Given the description of an element on the screen output the (x, y) to click on. 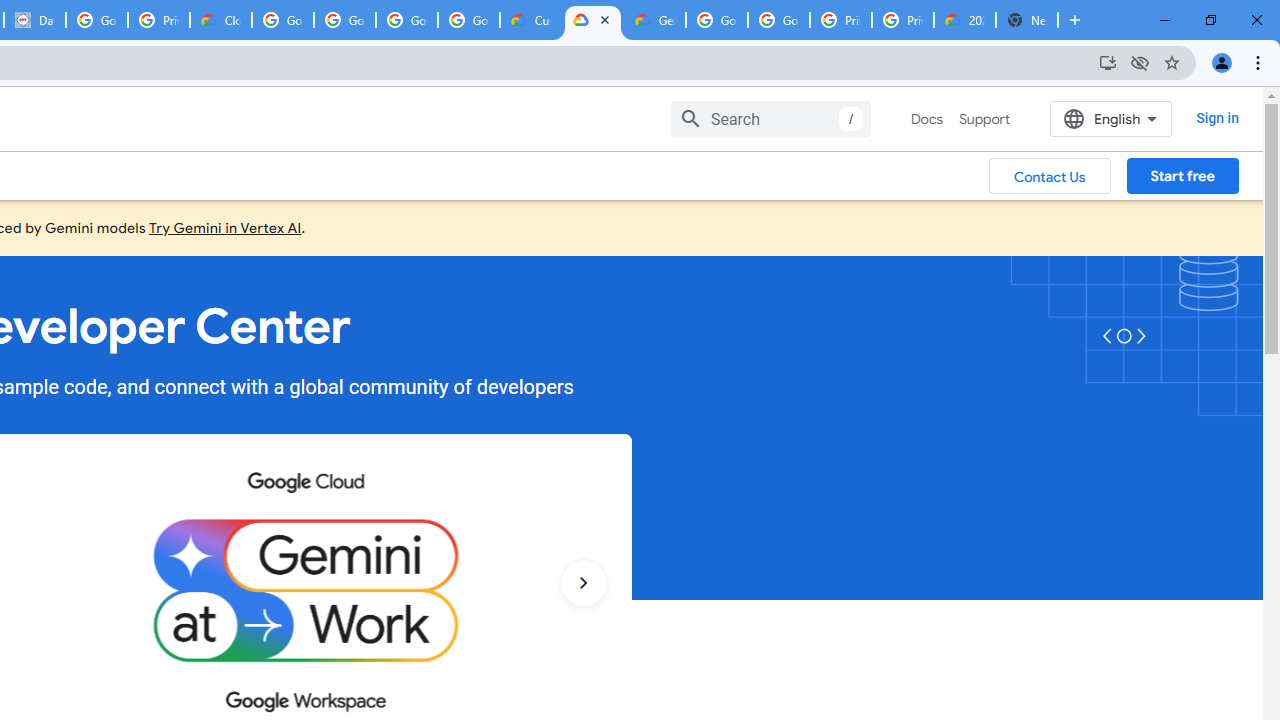
Third-party cookies blocked (1139, 62)
